Given the description of an element on the screen output the (x, y) to click on. 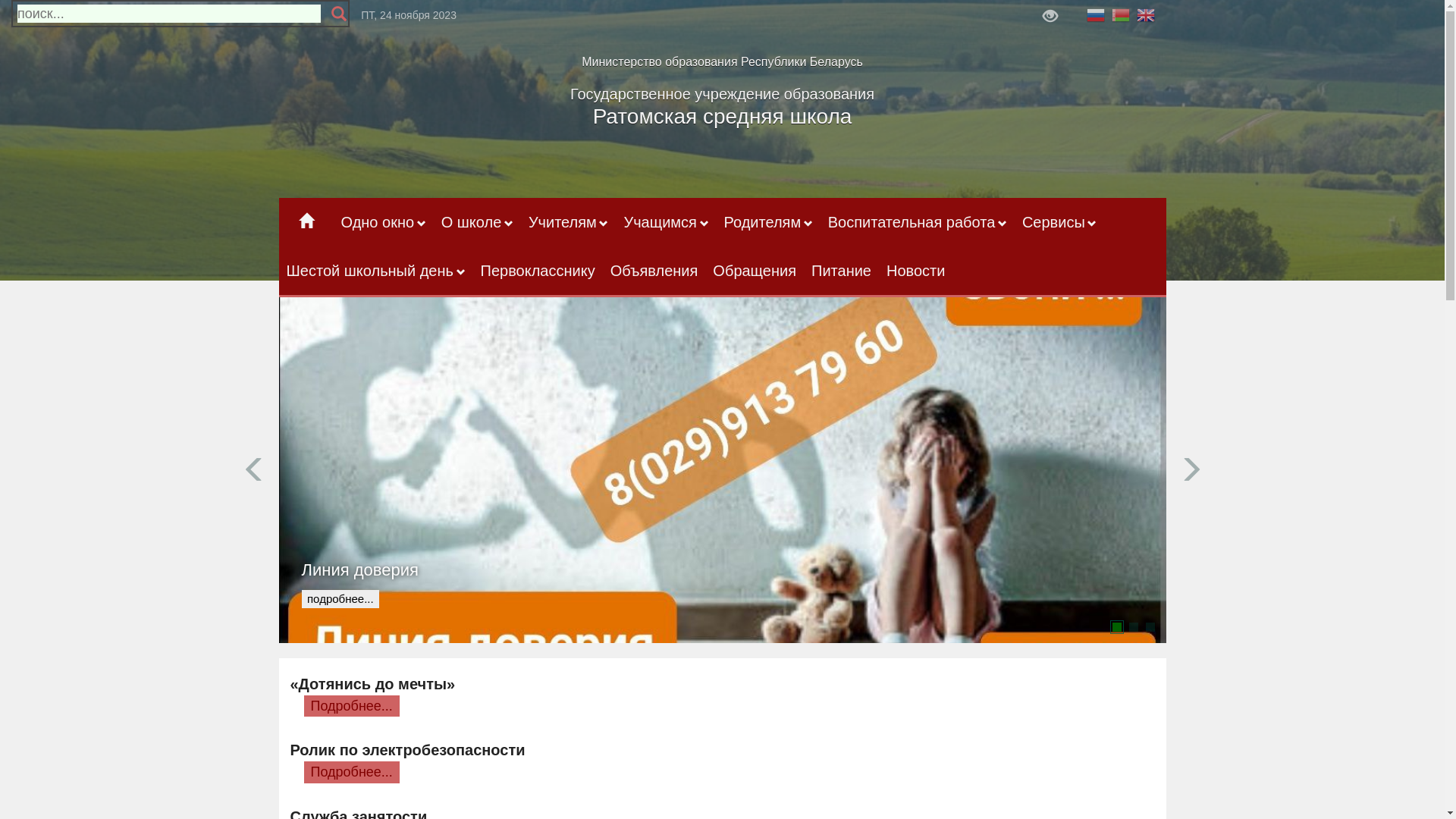
3 Element type: text (1149, 626)
2 Element type: text (1132, 626)
1 Element type: text (1115, 626)
